Given the description of an element on the screen output the (x, y) to click on. 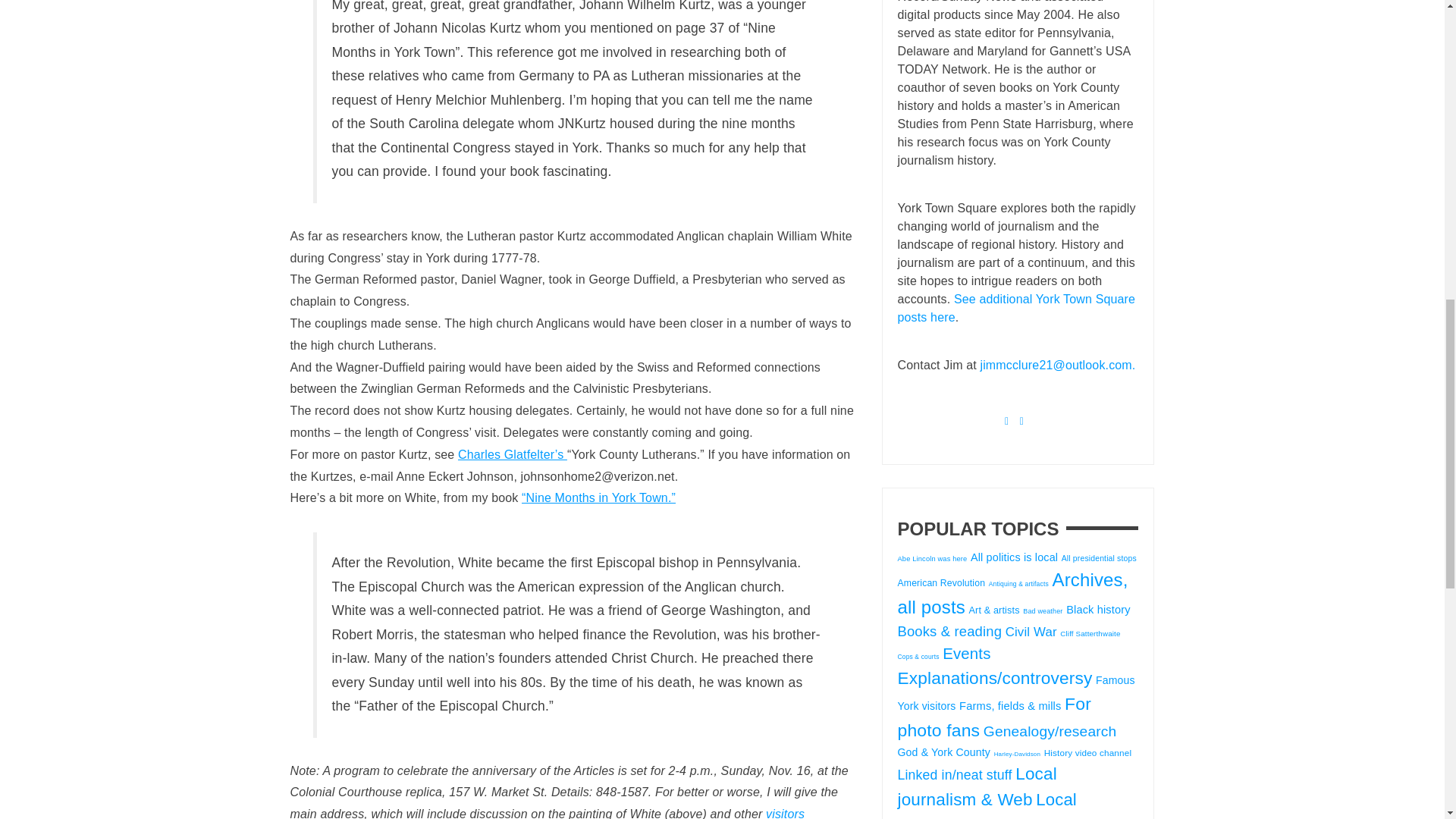
visitors recognized in art (547, 813)
